Given the description of an element on the screen output the (x, y) to click on. 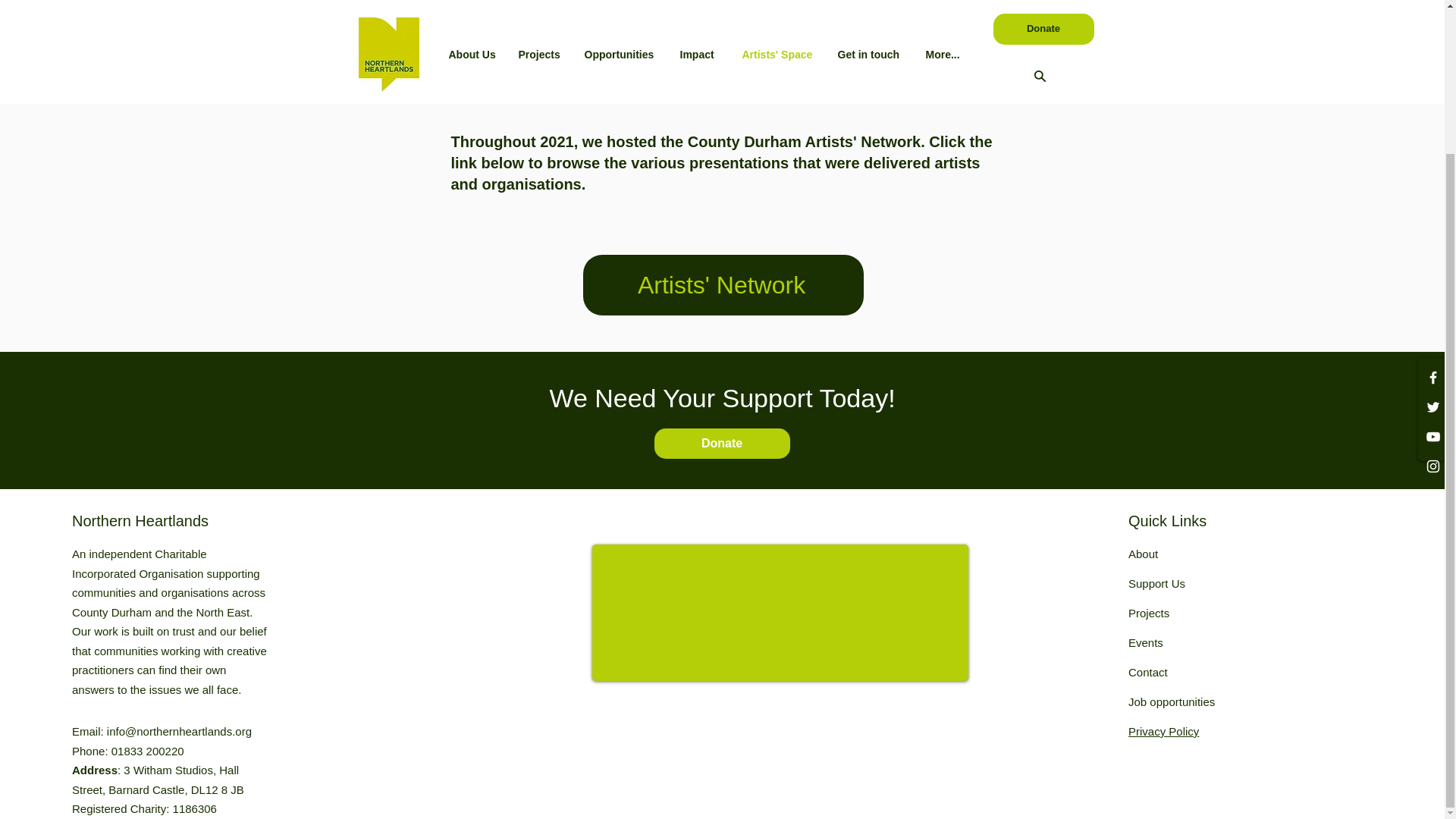
Projects (1148, 612)
Events (1145, 642)
Contact (1147, 671)
Support Us (1156, 583)
Artists' Network (722, 284)
Privacy Policy (1163, 730)
About (1142, 553)
Donate (721, 443)
Create North (766, 95)
Job opportunities (1171, 701)
